Given the description of an element on the screen output the (x, y) to click on. 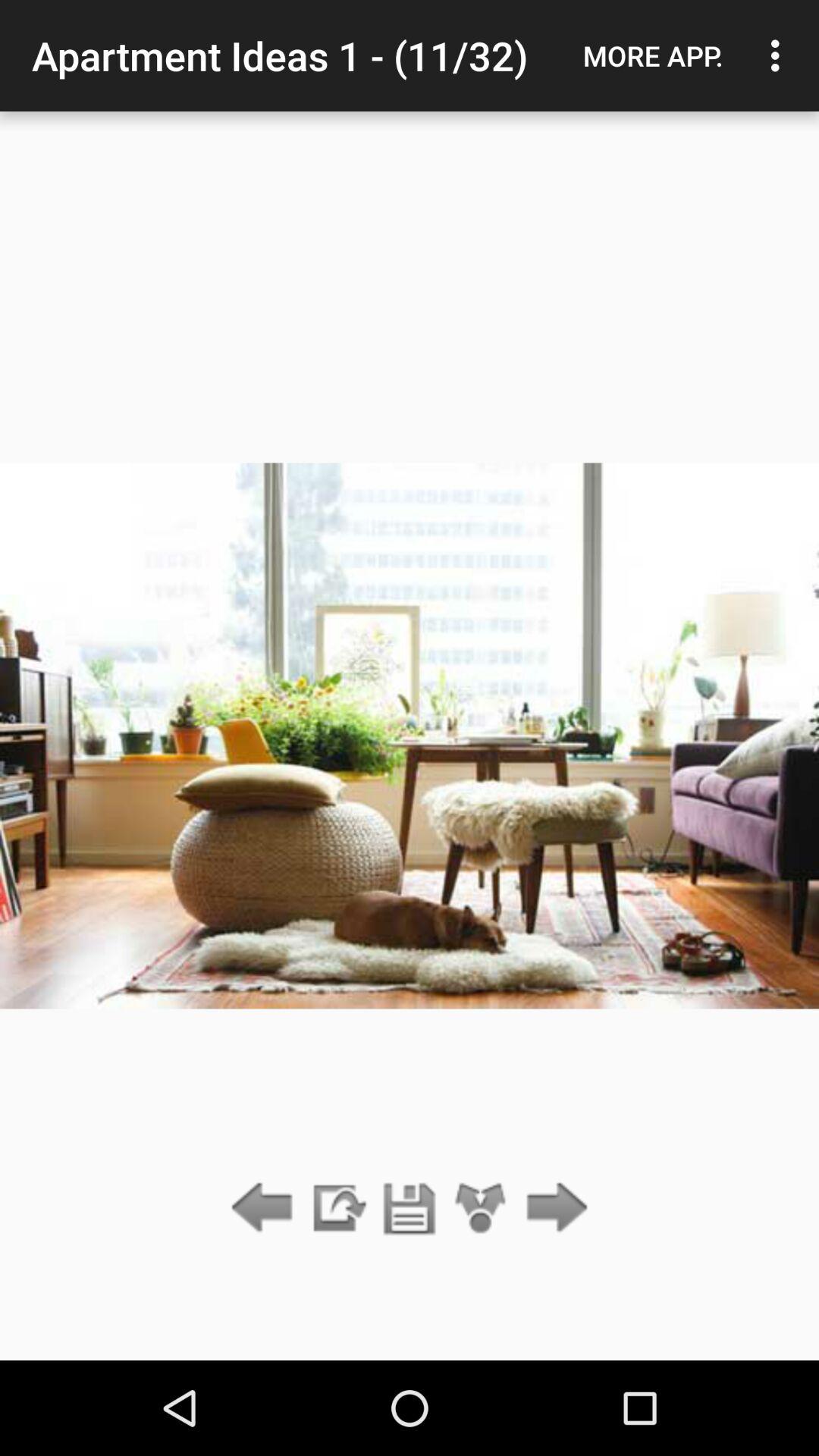
click the item below more app. item (552, 1209)
